Given the description of an element on the screen output the (x, y) to click on. 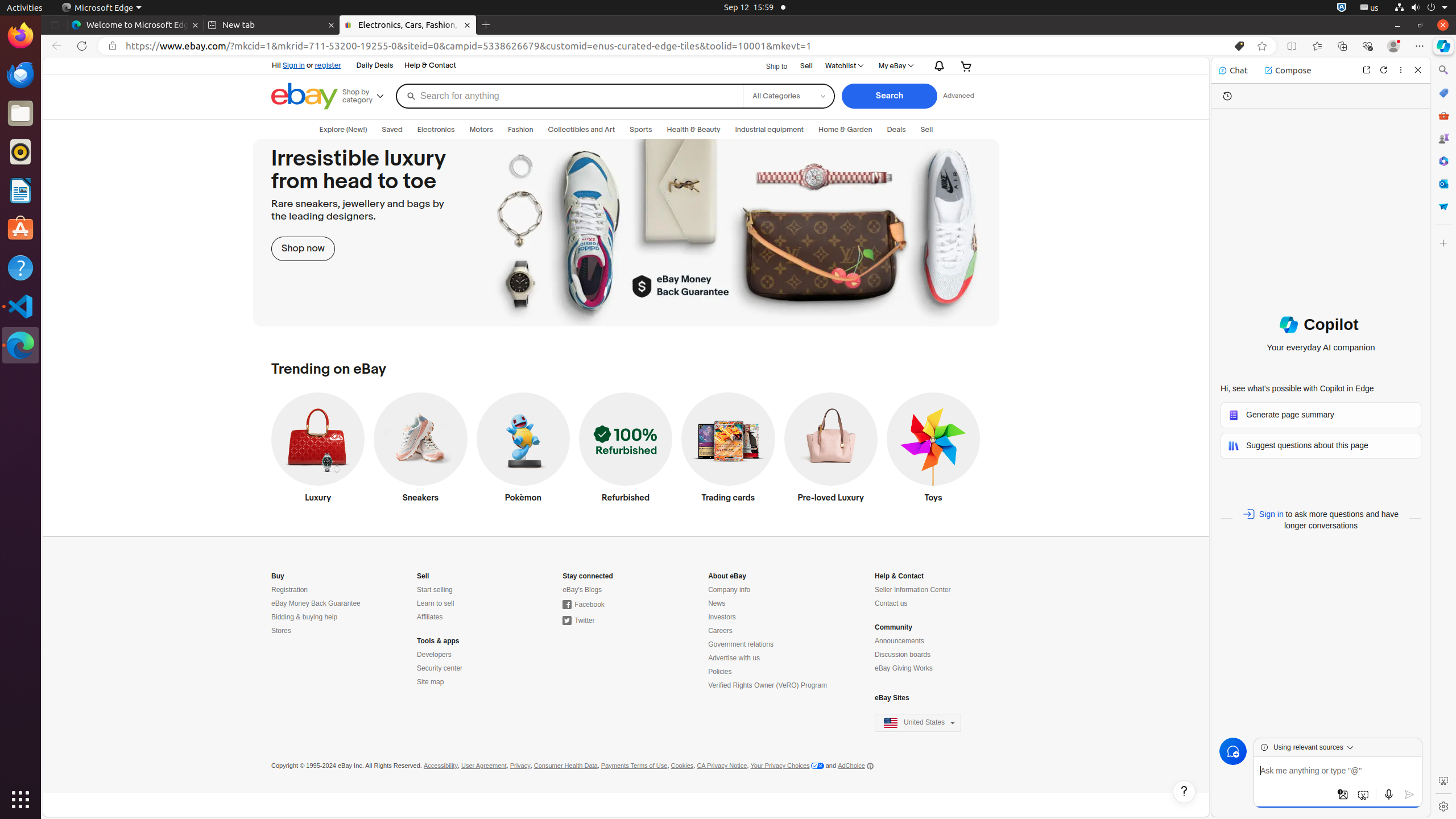
Microsoft Edge Element type: push-button (20, 344)
New topic Element type: push-button (1232, 750)
Twitter Element type: link (578, 620)
:1.72/StatusNotifierItem Element type: menu (1341, 7)
Watchlist Element type: link (843, 65)
